Given the description of an element on the screen output the (x, y) to click on. 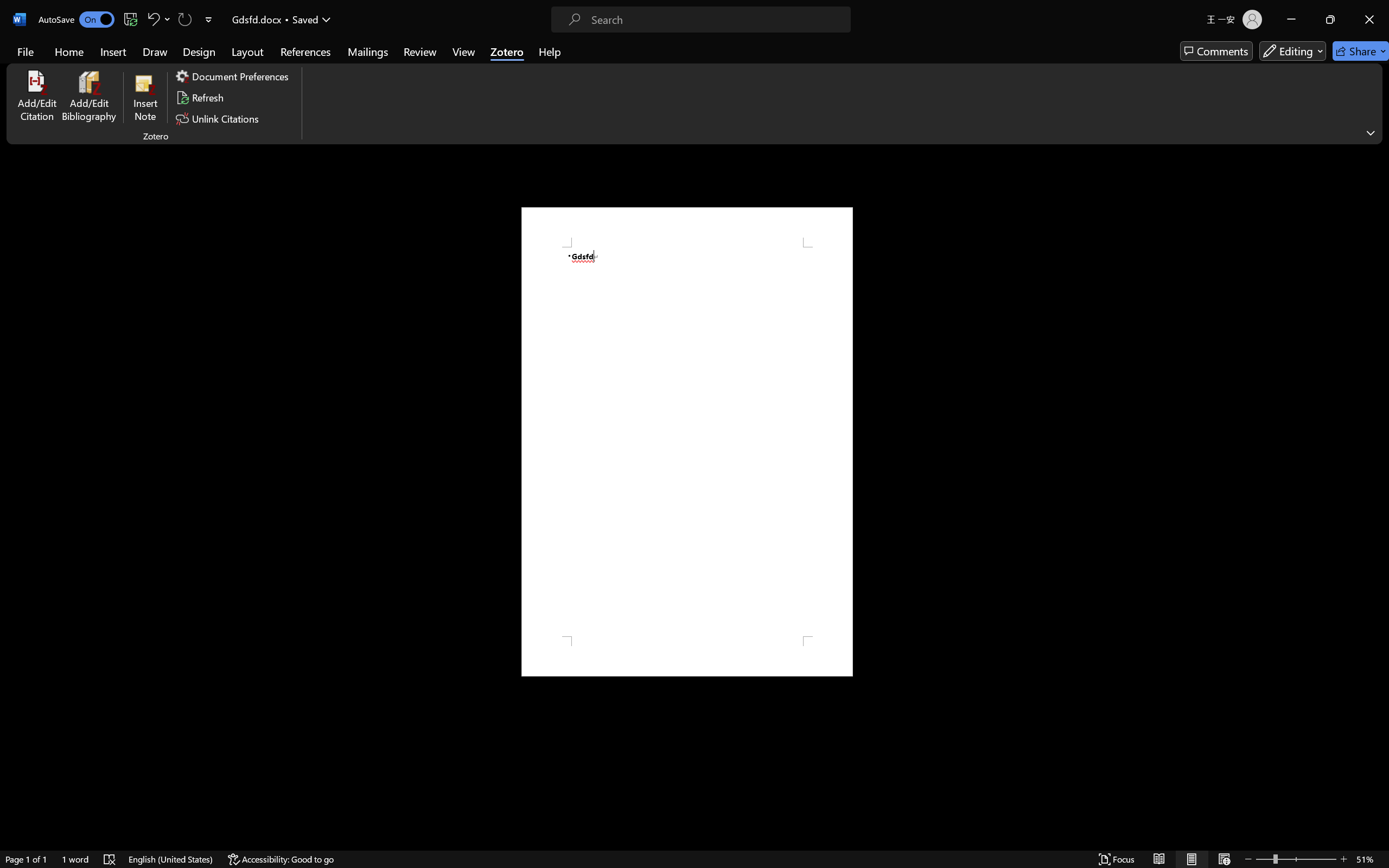
Page 1 content (686, 441)
